Given the description of an element on the screen output the (x, y) to click on. 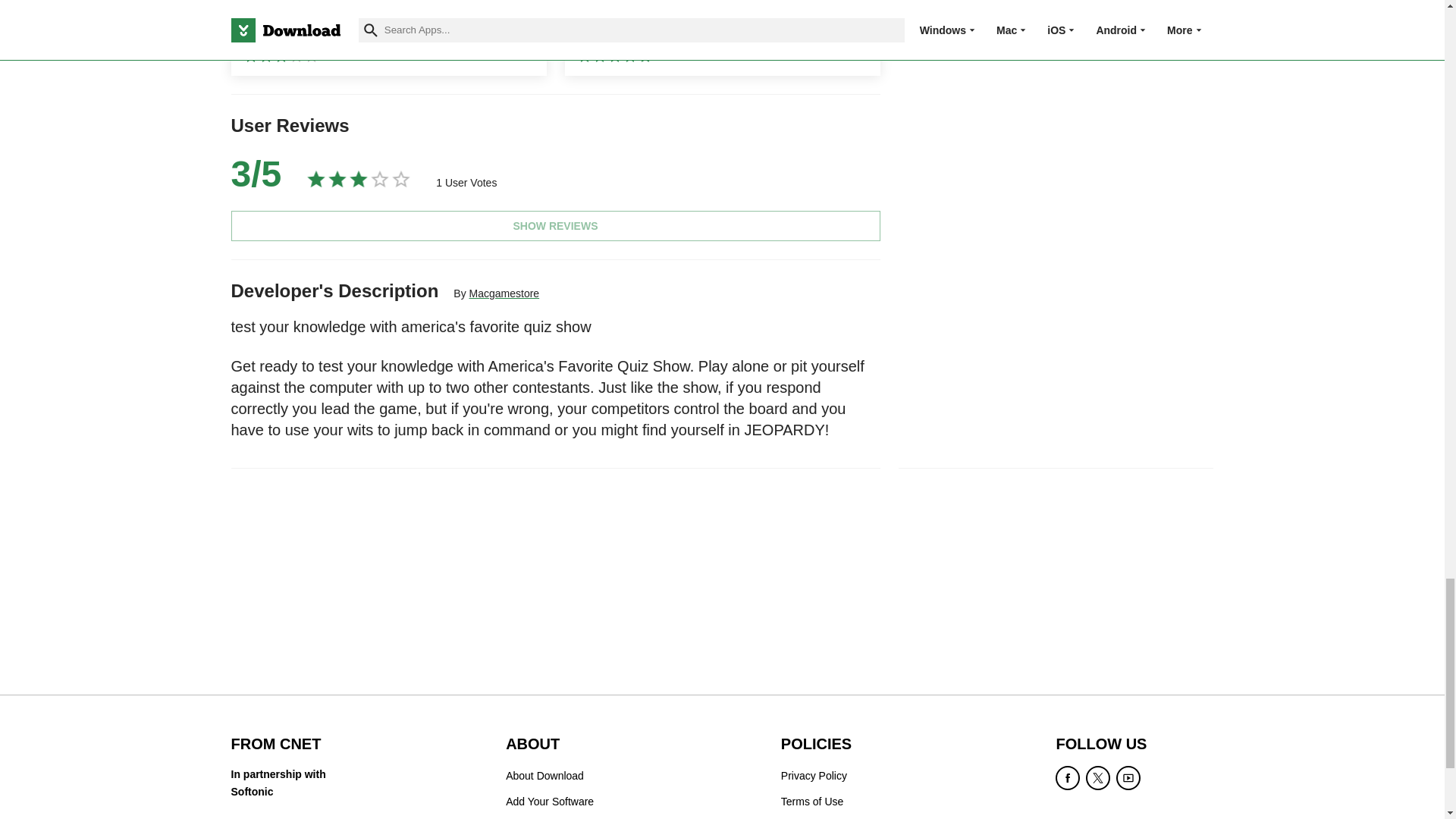
Angry Birds (721, 38)
Score of 3 stars over 5 (255, 174)
Build-a-lot 4: Power Source (388, 38)
Become a Facebook fan of Download.com (1067, 777)
